Given the description of an element on the screen output the (x, y) to click on. 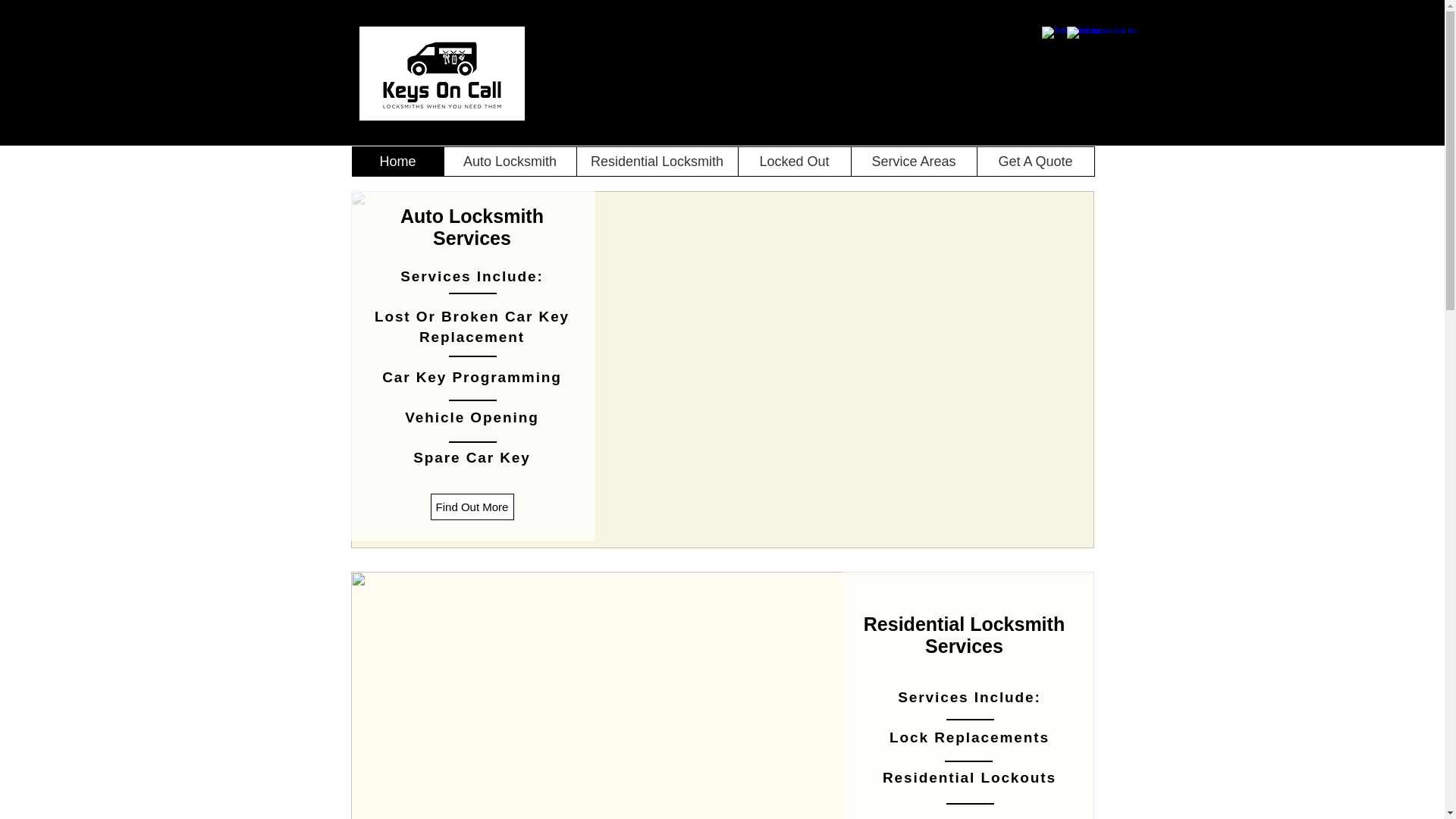
07415355320 (1008, 127)
Residential Locksmith (657, 161)
Service Areas (913, 161)
Home (397, 161)
Locked Out (793, 161)
Get A Quote (1035, 161)
Find Out More (471, 506)
Auto Locksmith (508, 161)
